Given the description of an element on the screen output the (x, y) to click on. 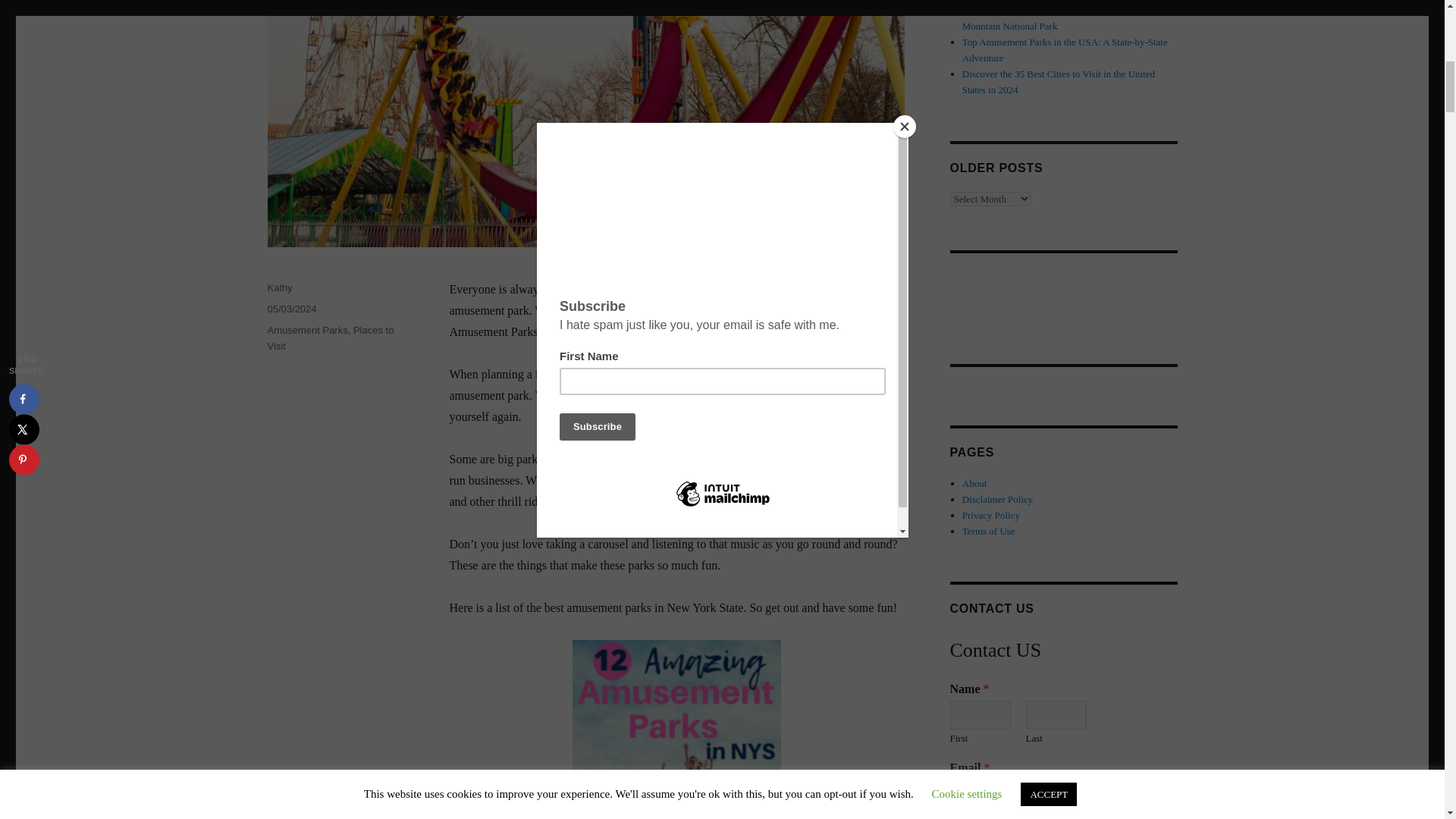
Places to Visit (329, 338)
Kathy (279, 287)
Amusement Parks (306, 329)
